Given the description of an element on the screen output the (x, y) to click on. 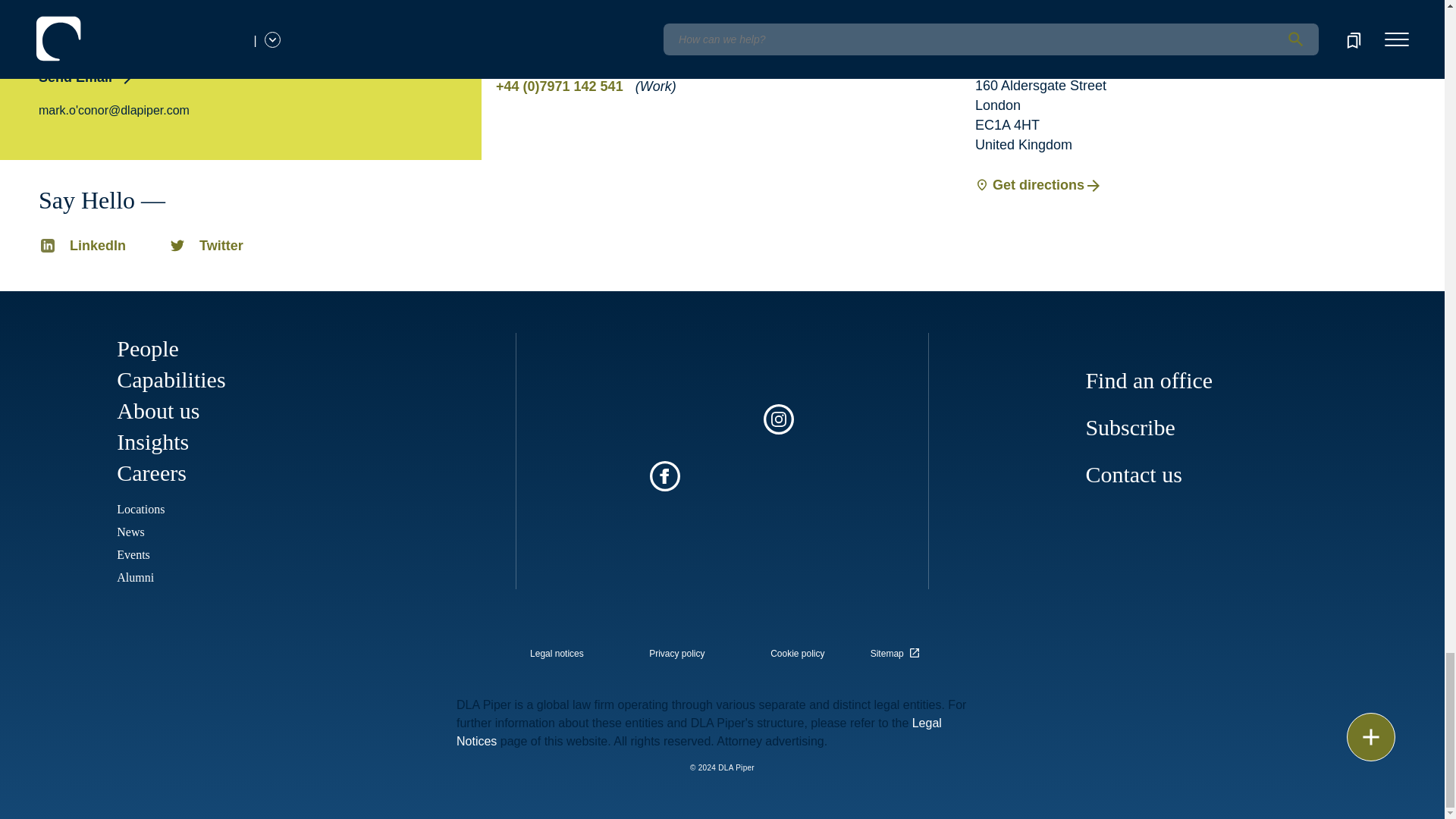
internal (557, 653)
external (897, 649)
internal (798, 653)
internal (676, 653)
